Given the description of an element on the screen output the (x, y) to click on. 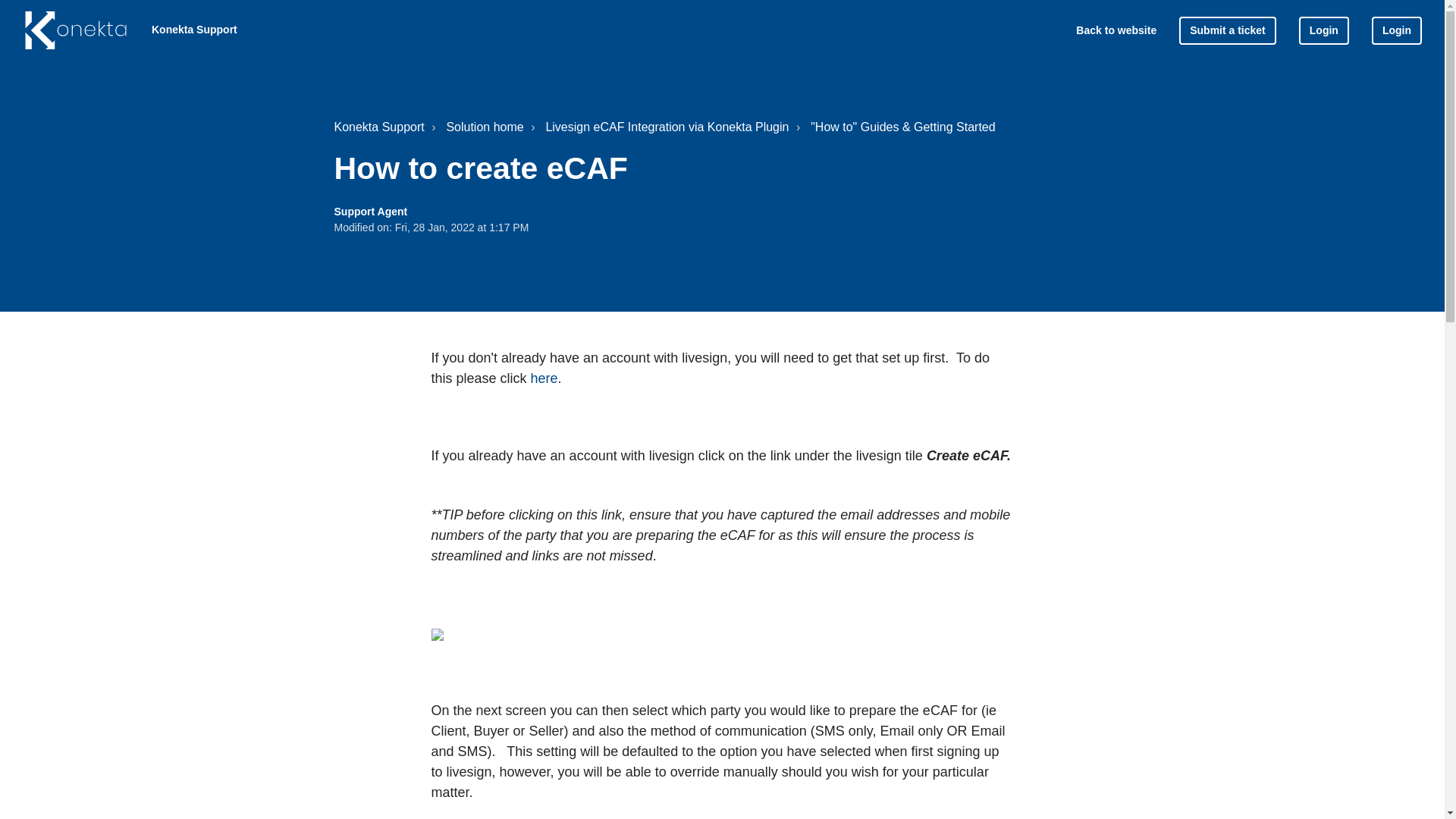
here (544, 378)
Konekta Support (378, 126)
Back to website (1115, 30)
Solution home (483, 126)
Livesign eCAF Integration via Konekta Plugin (658, 126)
Livesign eCAF Integration via Konekta Plugin (666, 126)
Submit a ticket (1227, 30)
Solution home (476, 126)
Support Agent (370, 211)
Login (1396, 30)
